Given the description of an element on the screen output the (x, y) to click on. 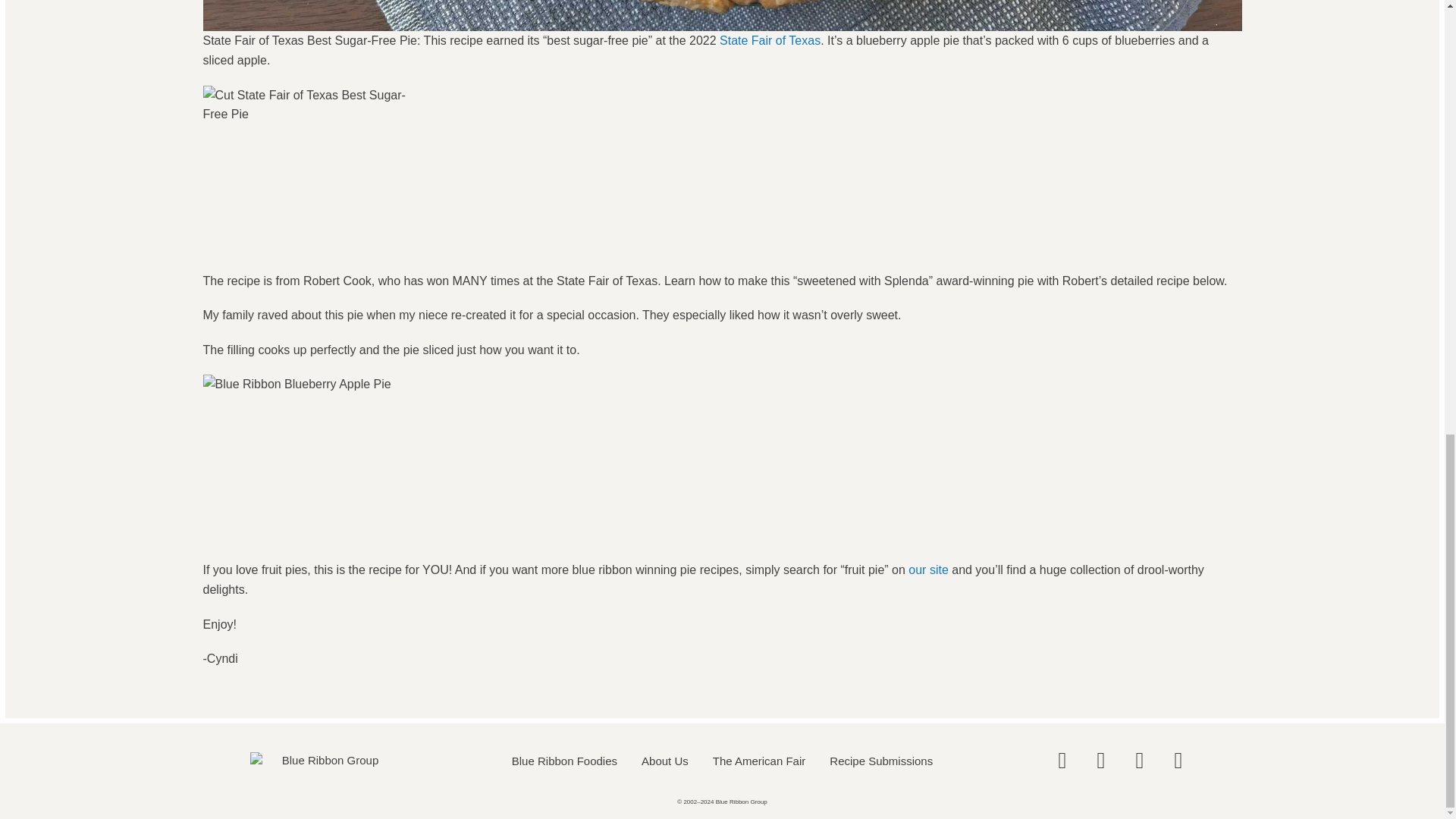
Blue Ribbon Foodies (563, 759)
The American Fair (759, 759)
our site (927, 569)
State Fair of Texas (770, 40)
Recipe Submissions (880, 759)
About Us (664, 759)
